Given the description of an element on the screen output the (x, y) to click on. 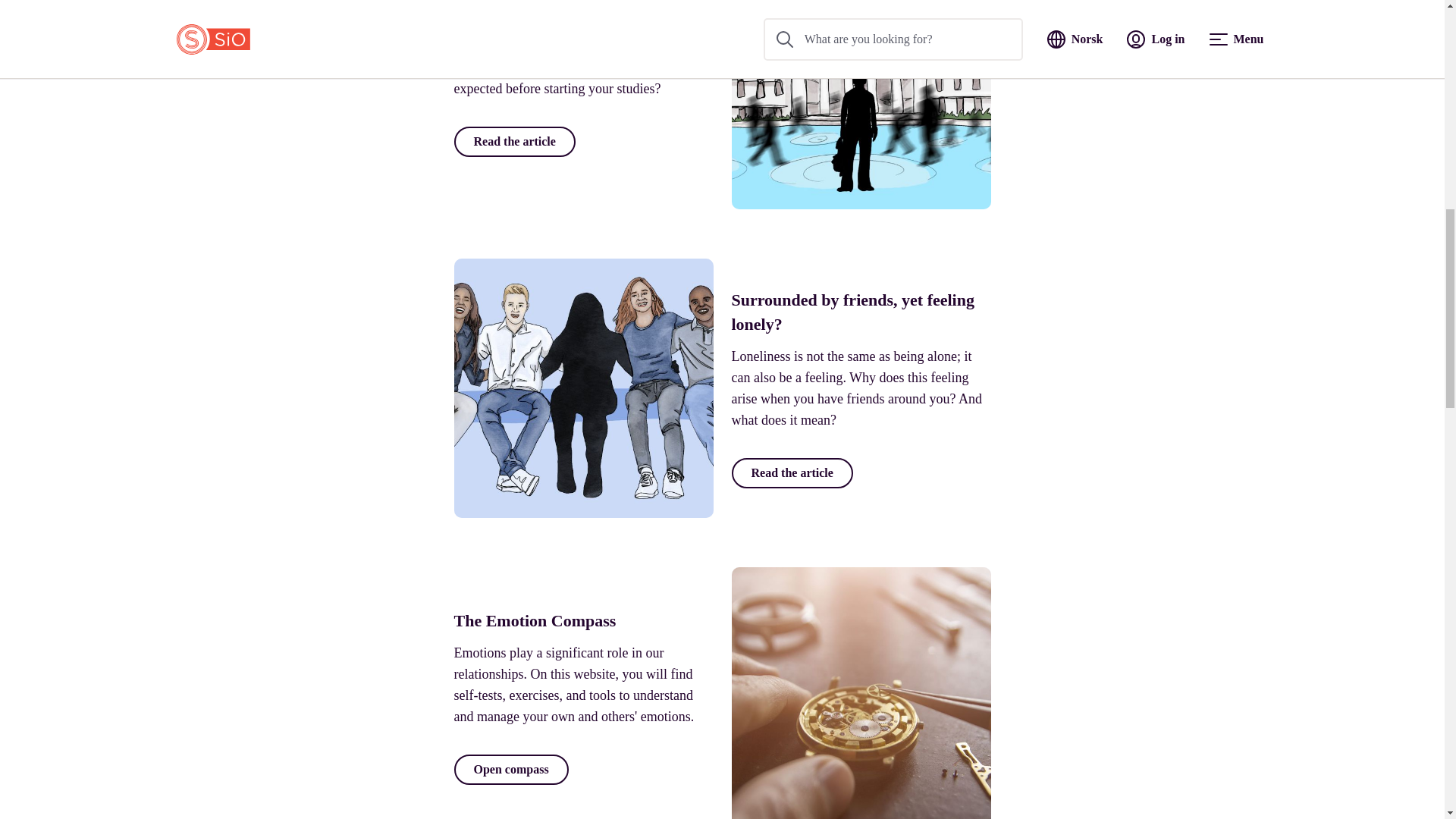
Open compass (509, 769)
Read the article (513, 141)
Read the article (790, 472)
